Given the description of an element on the screen output the (x, y) to click on. 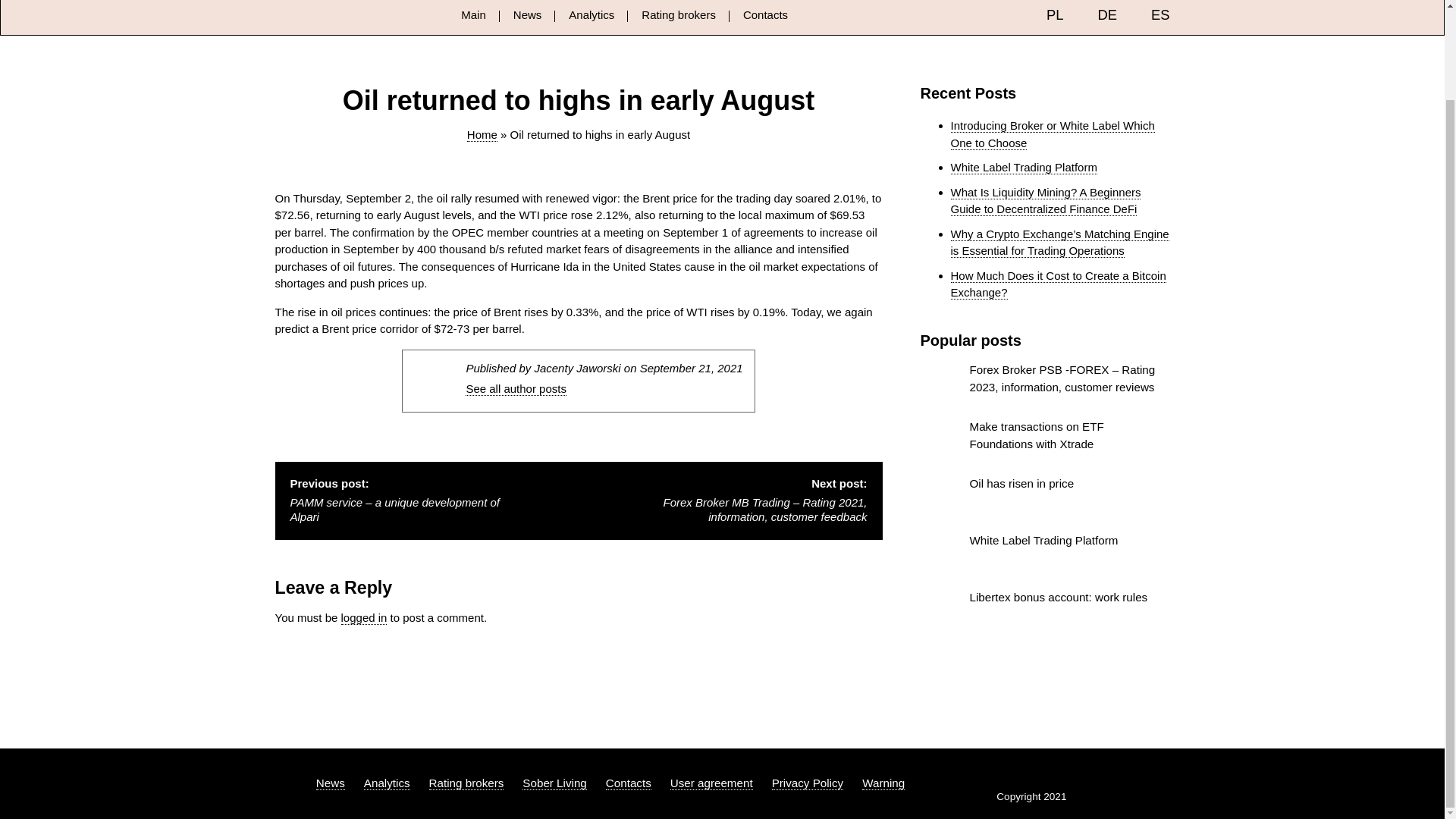
Analytics (591, 14)
Content Protection by DMCA.com (1027, 775)
Analytics (387, 783)
Rating brokers (679, 14)
ES (1147, 15)
Home (482, 134)
Introducing Broker or White Label Which One to Choose (1052, 133)
White Label Trading Platform (1045, 554)
Contacts (627, 783)
Rating brokers (466, 783)
